Given the description of an element on the screen output the (x, y) to click on. 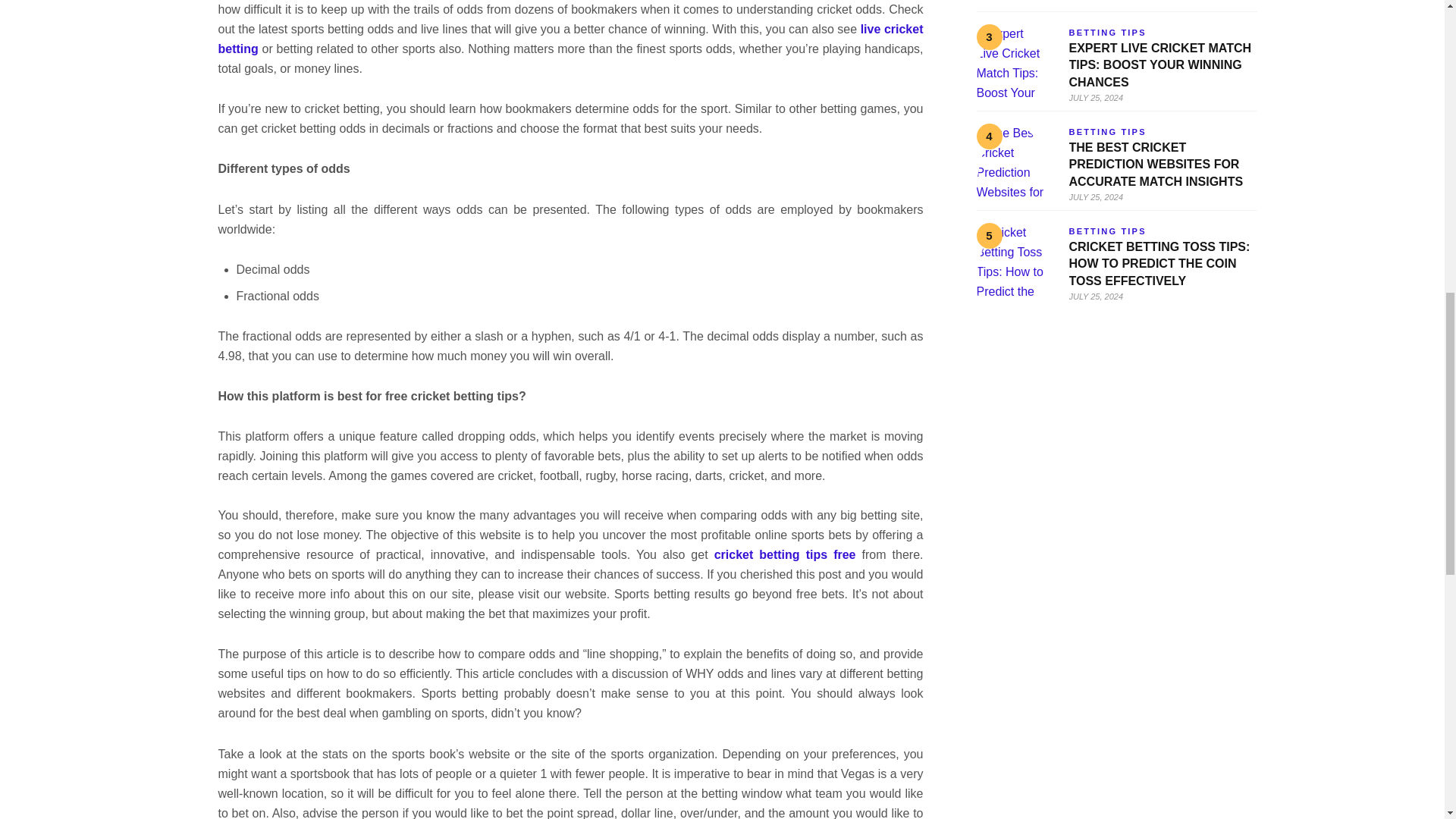
cricket betting tips free (785, 554)
View all posts in Betting Tips (1107, 230)
View all posts in Betting Tips (1107, 31)
View all posts in Betting Tips (1107, 131)
live cricket betting (570, 38)
